Given the description of an element on the screen output the (x, y) to click on. 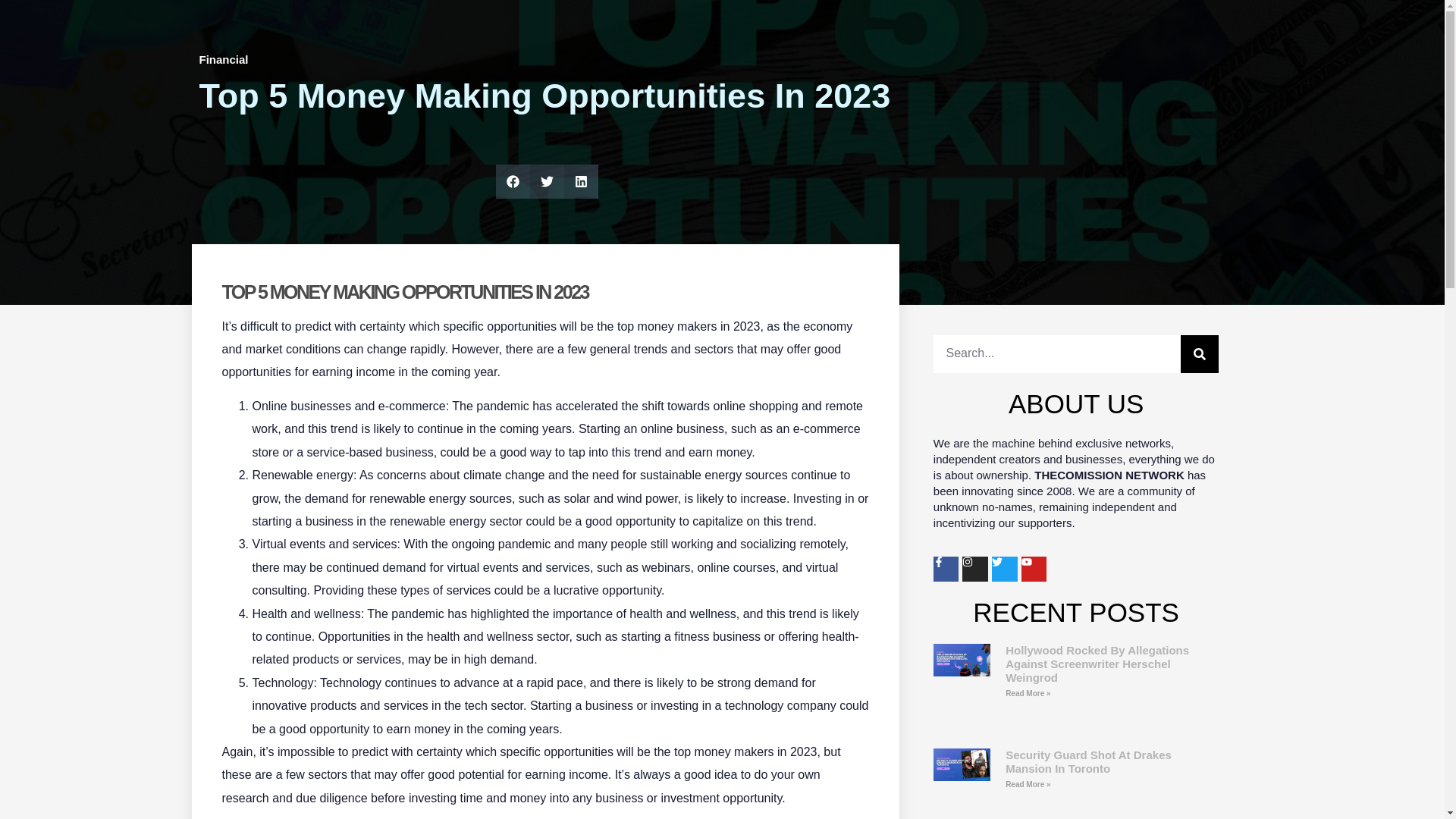
Security Guard Shot At Drakes Mansion In Toronto (1089, 761)
Financial (222, 59)
